Given the description of an element on the screen output the (x, y) to click on. 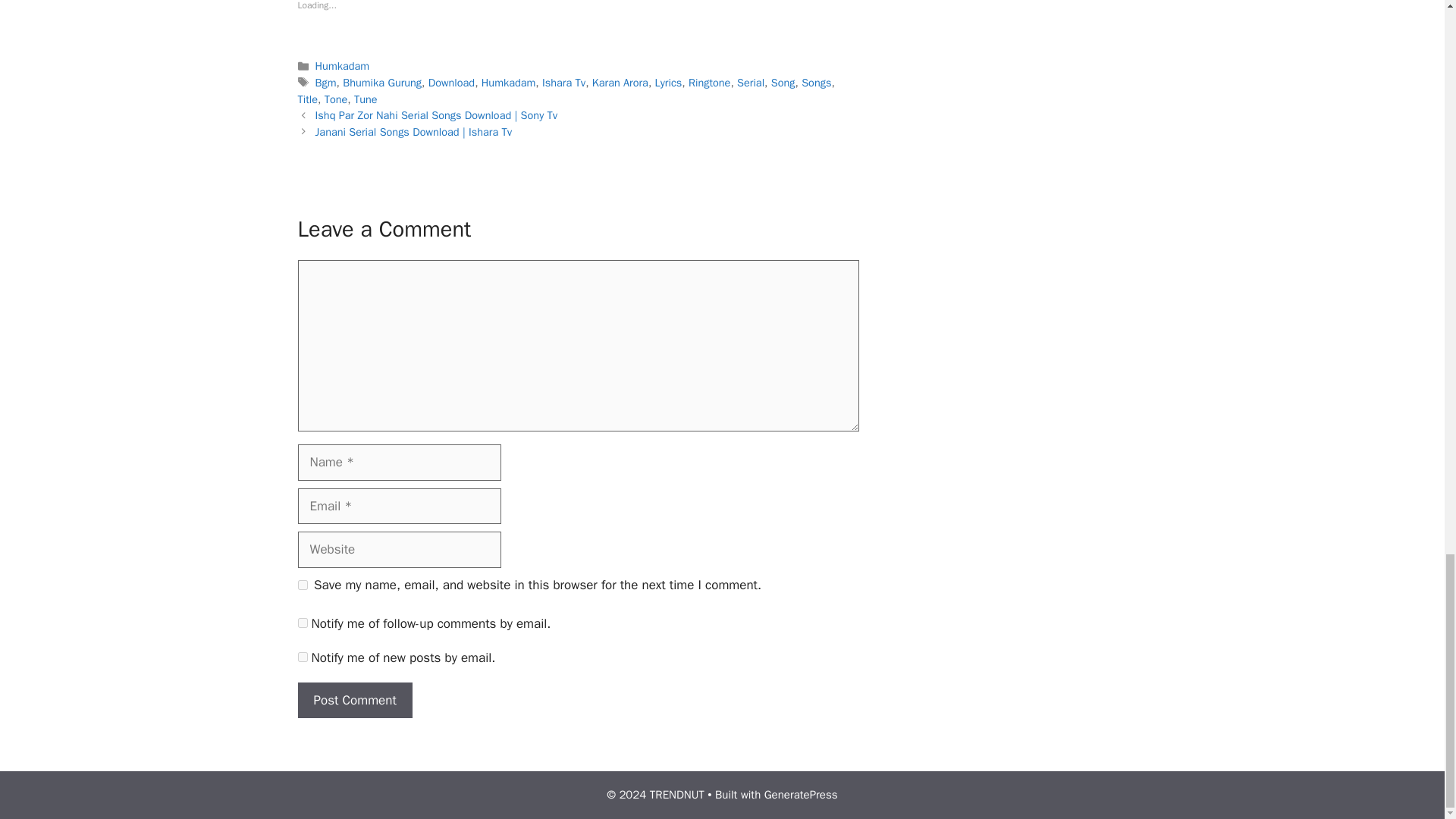
Download (451, 82)
Songs (816, 82)
Ishara Tv (563, 82)
Tune (365, 99)
Karan Arora (619, 82)
Humkadam (342, 65)
Title (307, 99)
yes (302, 584)
Song (782, 82)
Humkadam (508, 82)
